Given the description of an element on the screen output the (x, y) to click on. 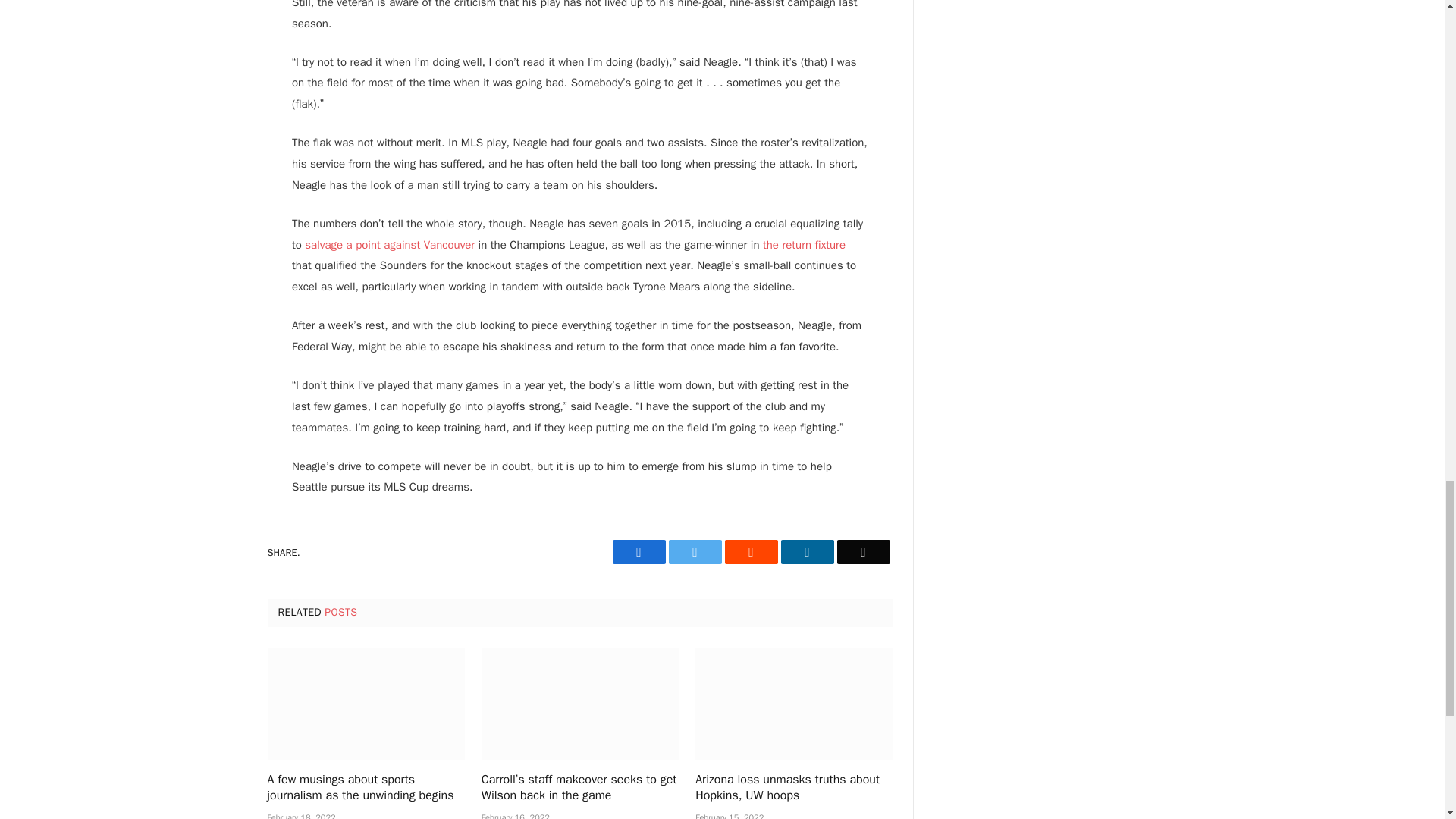
salvage a point against Vancouver (389, 244)
Twitter (695, 551)
Facebook (638, 551)
Reddit (751, 551)
the return fixture (803, 244)
LinkedIn (807, 551)
Email (863, 551)
